Given the description of an element on the screen output the (x, y) to click on. 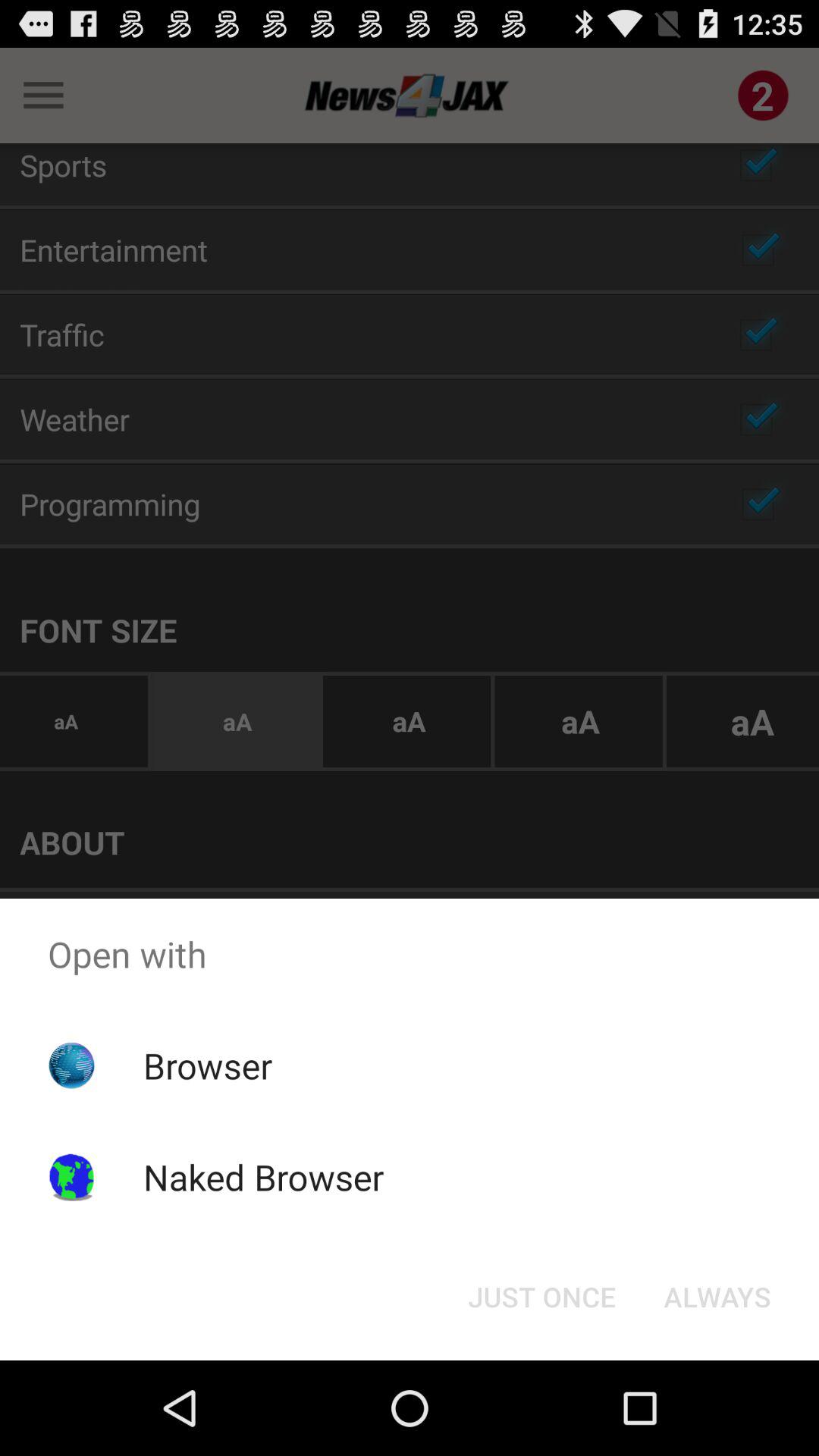
press the always item (717, 1296)
